Given the description of an element on the screen output the (x, y) to click on. 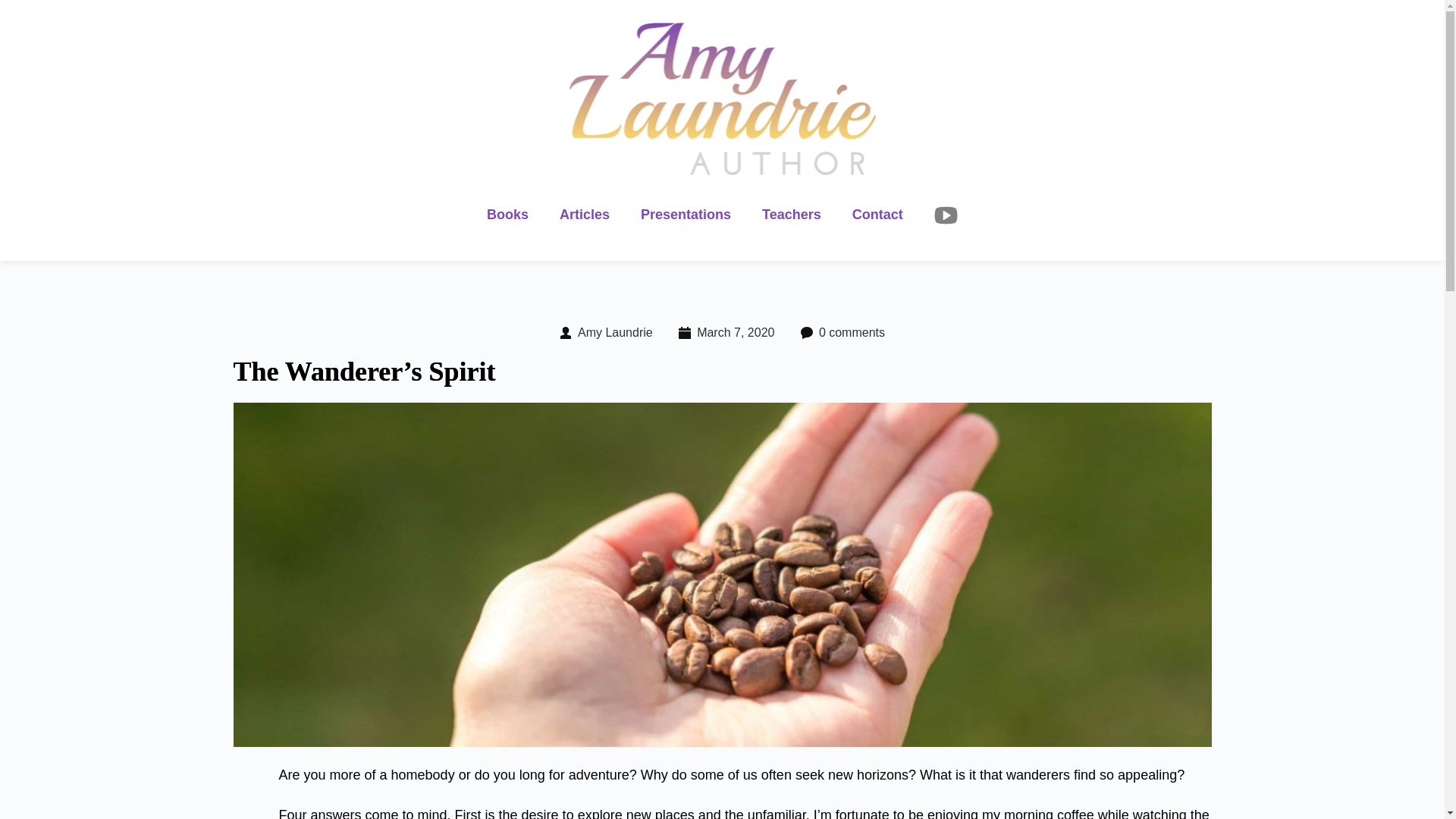
Contact (877, 214)
Teachers (791, 214)
Books (507, 214)
Articles (584, 214)
Presentations (686, 214)
